Given the description of an element on the screen output the (x, y) to click on. 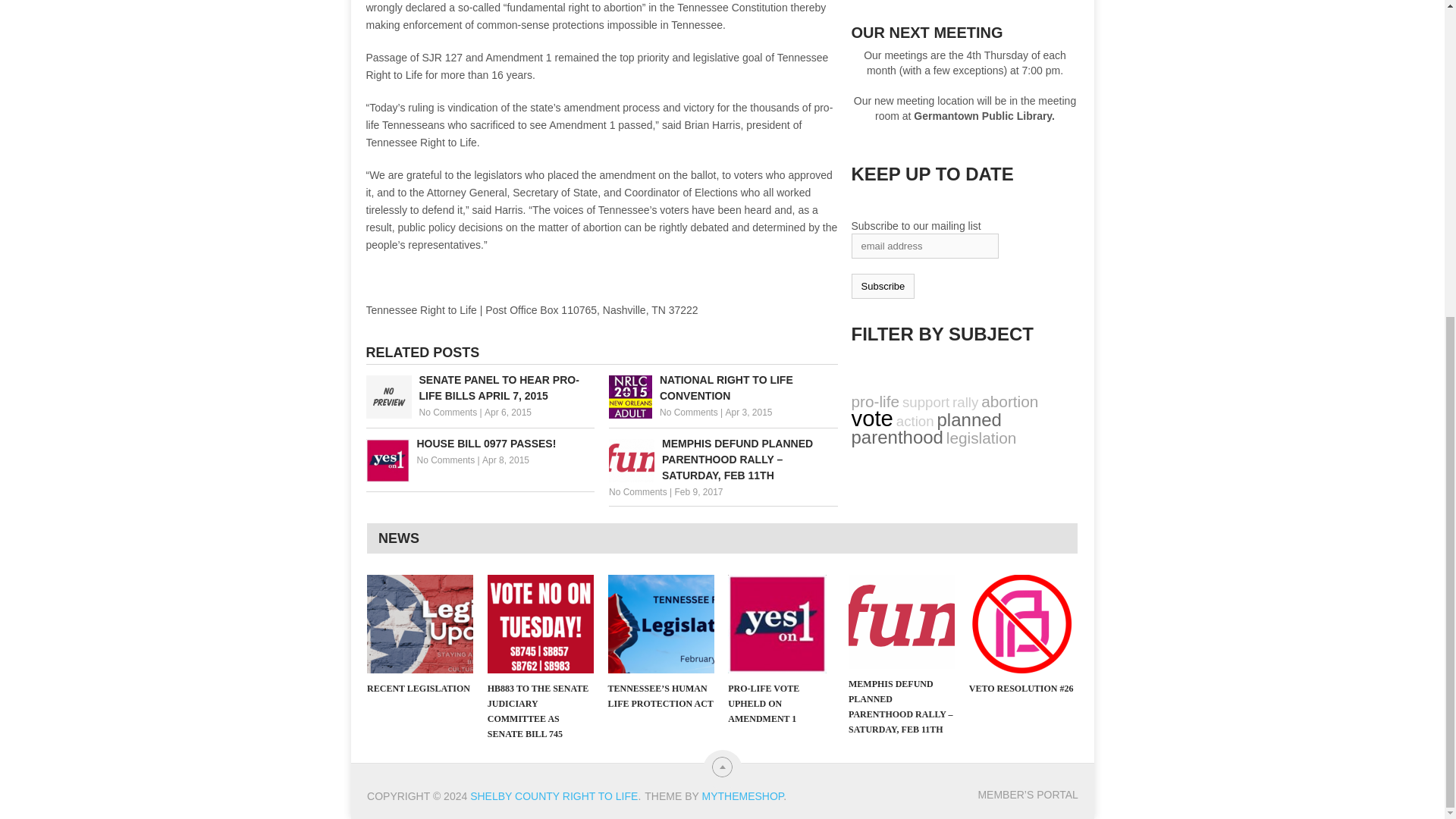
HOUSE BILL 0977 PASSES! (479, 443)
Subscribe (882, 285)
Subscribe (882, 285)
rally (965, 401)
No Comments (446, 460)
1 topics (965, 401)
National Right To Life Convention (723, 388)
No Comments (448, 412)
SENATE PANEL TO HEAR PRO-LIFE BILLS APRIL 7, 2015 (479, 388)
House Bill 0977 Passes! (479, 443)
support (925, 401)
1 topics (925, 401)
pro-life (874, 401)
No Comments (688, 412)
RECENT LEGISLATION (419, 623)
